Given the description of an element on the screen output the (x, y) to click on. 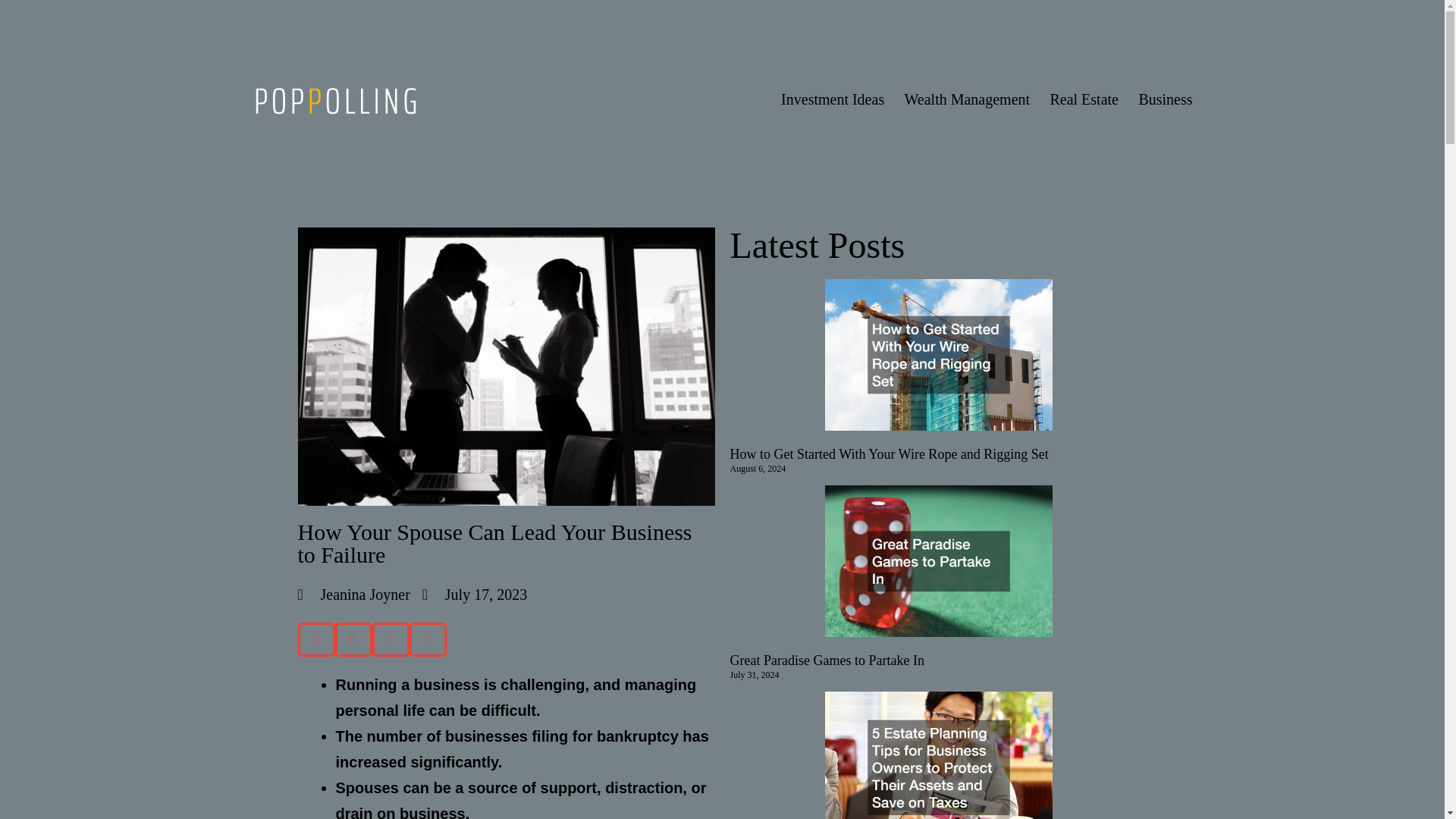
Wealth Management (966, 98)
July 17, 2023 (474, 594)
How to Get Started With Your Wire Rope and Rigging Set (888, 453)
Real Estate (1083, 98)
Business (1165, 98)
Jeanina Joyner (353, 594)
Great Paradise Games to Partake In (826, 660)
Investment Ideas (832, 98)
